Given the description of an element on the screen output the (x, y) to click on. 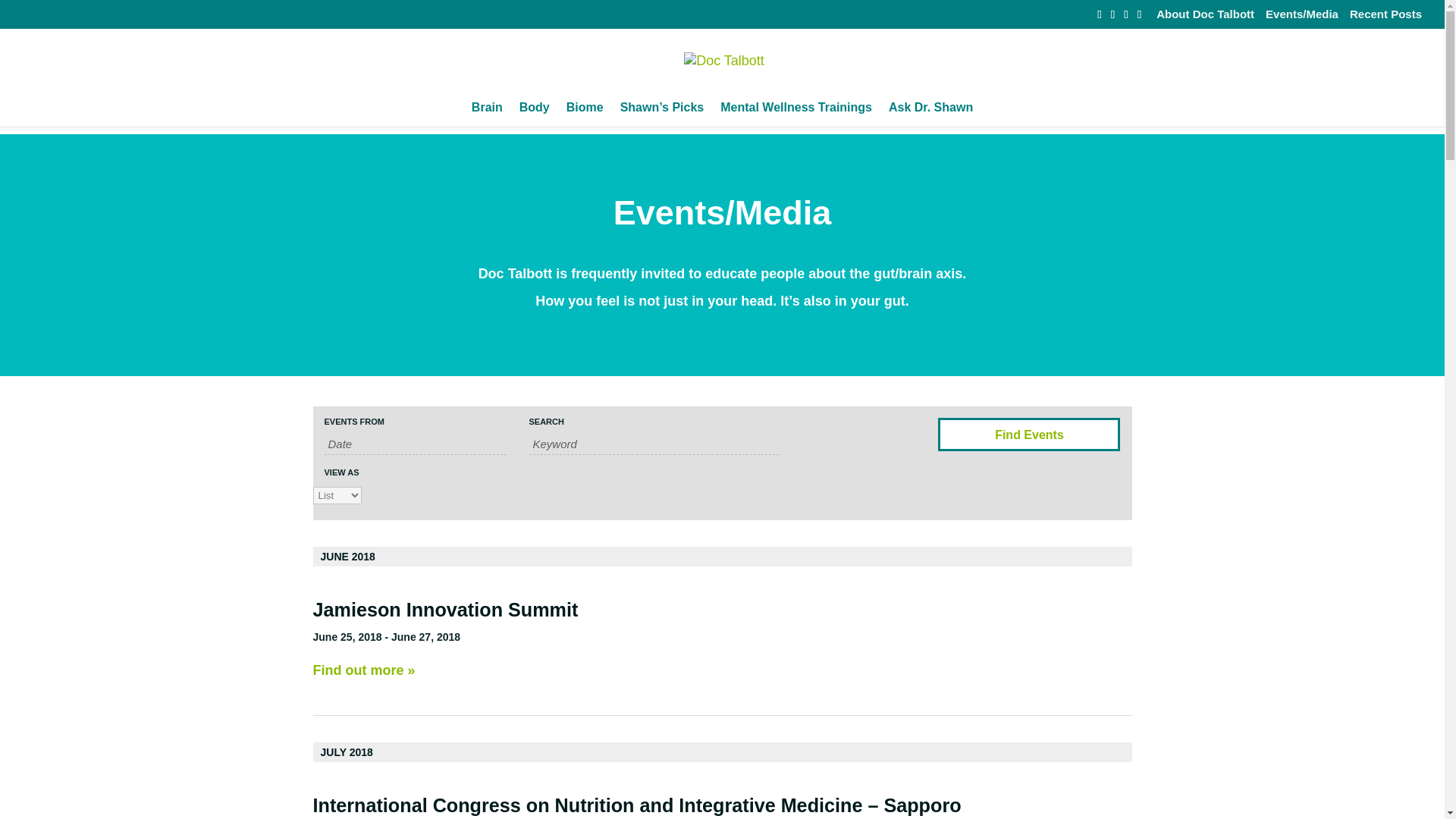
Brain (486, 114)
Jamieson Innovation Summit (445, 608)
Find Events (1028, 434)
Recent Posts (1385, 17)
About Doc Talbott (1204, 17)
Body (534, 114)
Find Events (1028, 434)
Biome (585, 114)
Mental Wellness Trainings (796, 114)
Jamieson Innovation Summit (445, 608)
Ask Dr. Shawn (930, 114)
